Given the description of an element on the screen output the (x, y) to click on. 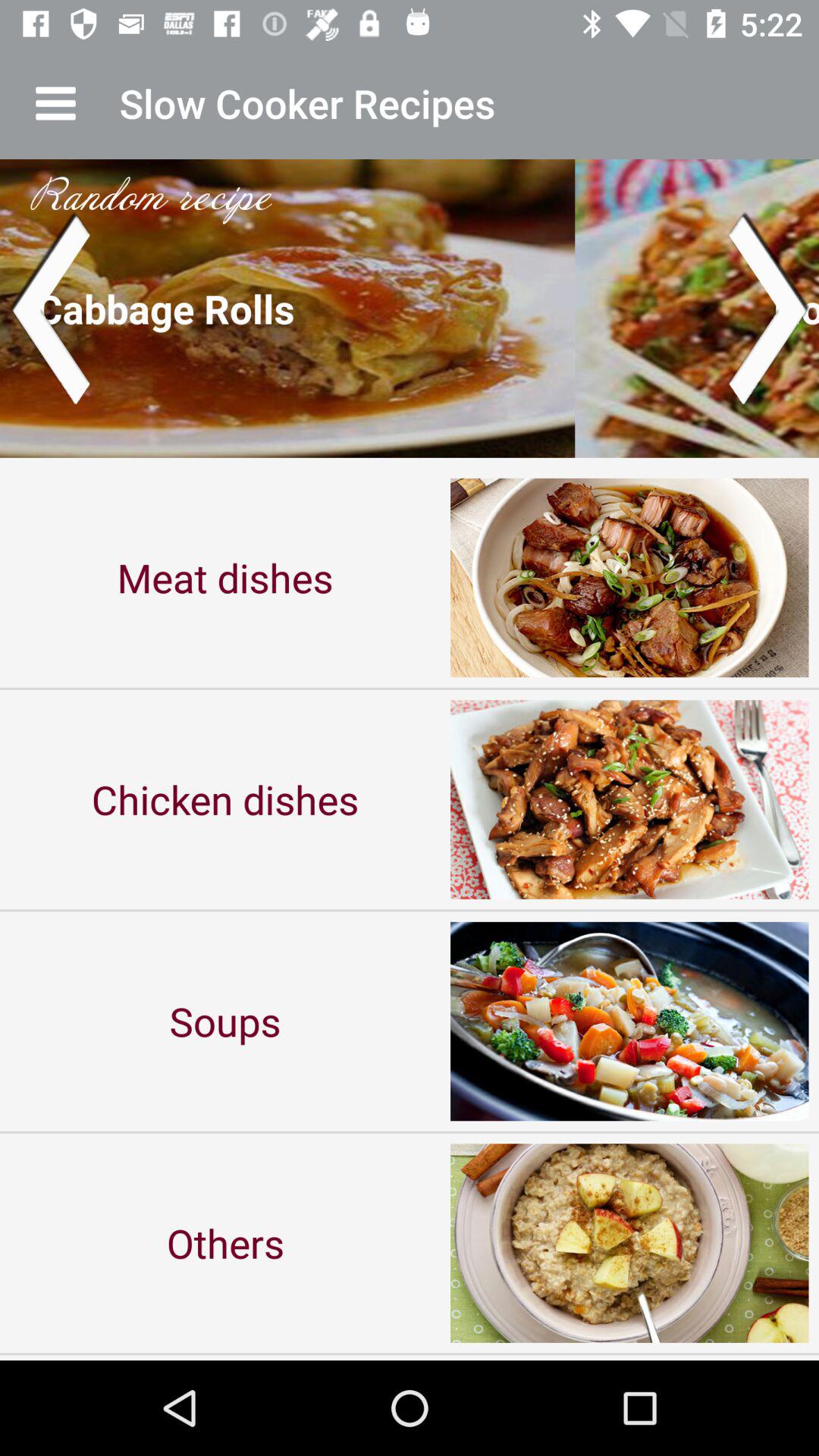
swipe until the soups (225, 1020)
